Given the description of an element on the screen output the (x, y) to click on. 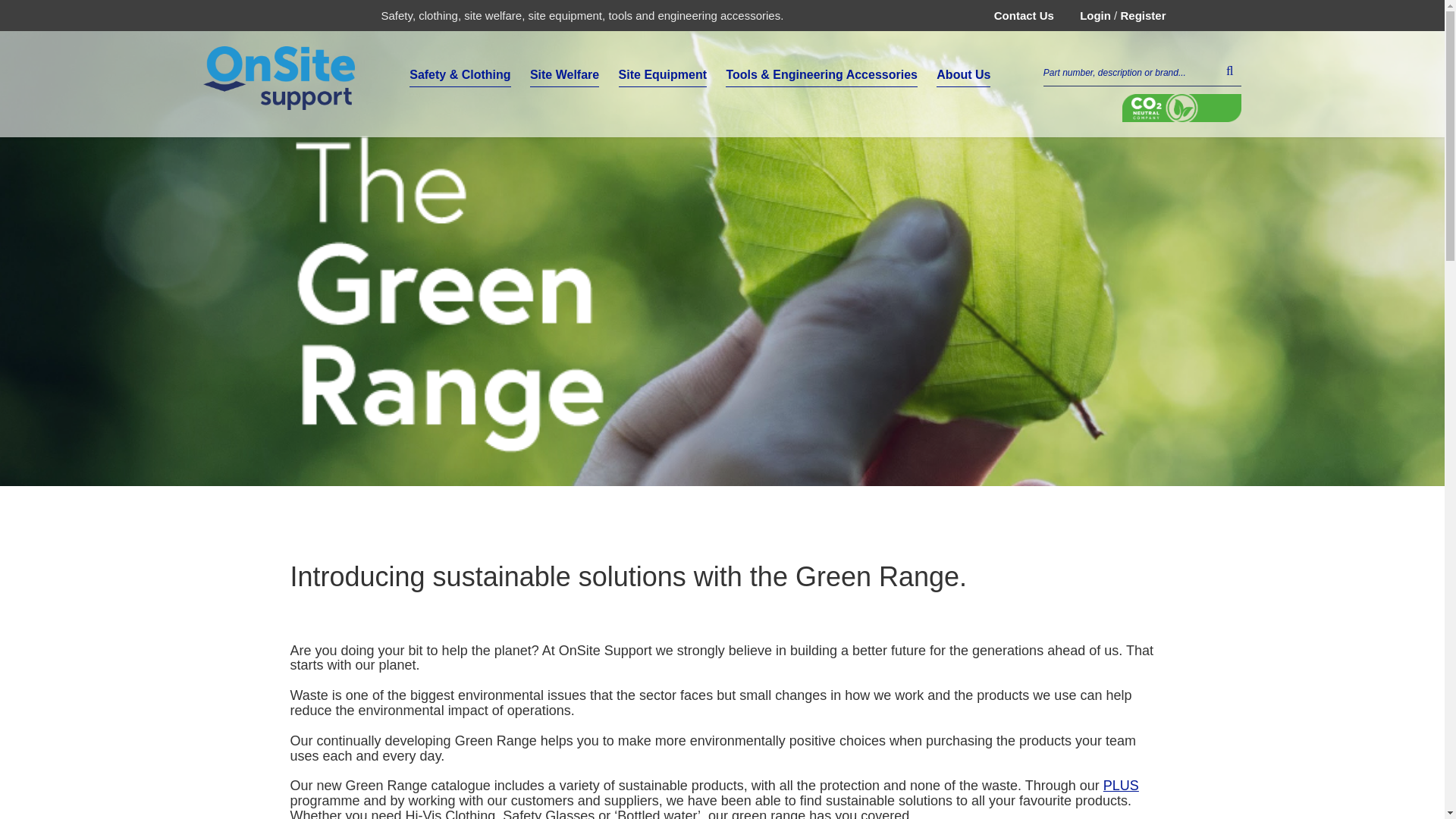
Register (1142, 15)
Contact Us (1024, 15)
Site Welfare (563, 74)
Login (1095, 15)
